Given the description of an element on the screen output the (x, y) to click on. 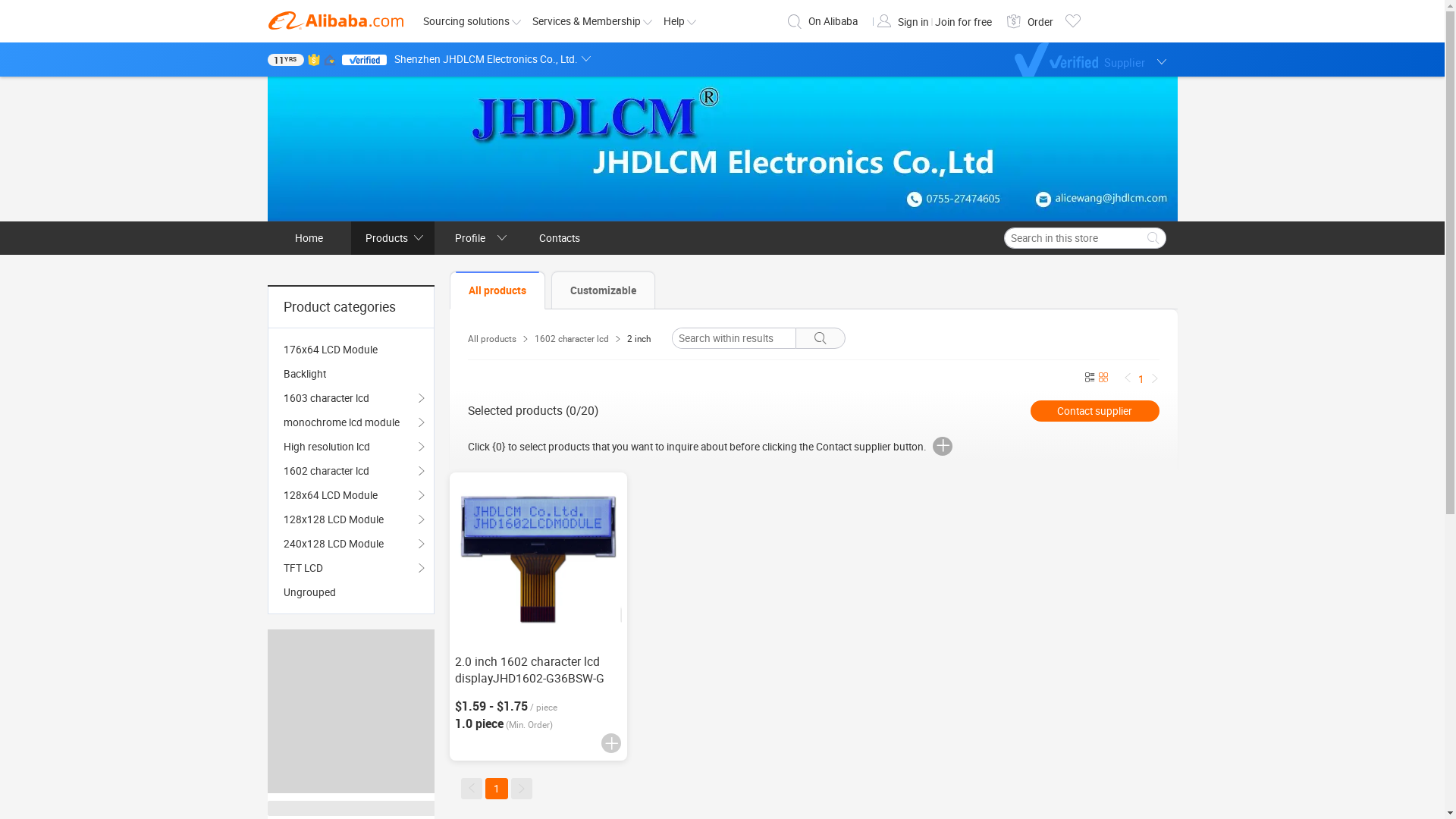
128x128 LCD Module Element type: text (350, 519)
Products Element type: text (391, 237)
Join for free Element type: text (962, 21)
TFT LCD Element type: text (350, 567)
Supplier Element type: text (1095, 59)
1 Element type: text (496, 788)
176x64 LCD Module Element type: text (350, 349)
Backlight Element type: text (350, 373)
1602 character lcd Element type: text (570, 338)
1603 character lcd Element type: text (350, 397)
2.0 inch 1602 character lcd displayJHD1602-G36BSW-G Element type: text (529, 669)
High resolution lcd Element type: text (350, 446)
Contact supplier Element type: text (1093, 410)
Sign in Element type: text (914, 21)
Order Element type: text (1039, 21)
Ungrouped Element type: text (350, 592)
1602 character lcd Element type: text (350, 470)
All products Element type: text (491, 338)
monochrome lcd module Element type: text (350, 422)
Home Element type: text (308, 237)
240x128 LCD Module Element type: text (350, 543)
Gallery View Element type: hover (1102, 378)
Favorites Element type: hover (1071, 21)
Alibaba.com Element type: text (334, 20)
2 inch Element type: text (637, 338)
Contacts Element type: text (558, 237)
List View Element type: hover (1088, 378)
Profile Element type: text (475, 237)
128x64 LCD Module Element type: text (350, 495)
11YRS Element type: text (284, 59)
